Given the description of an element on the screen output the (x, y) to click on. 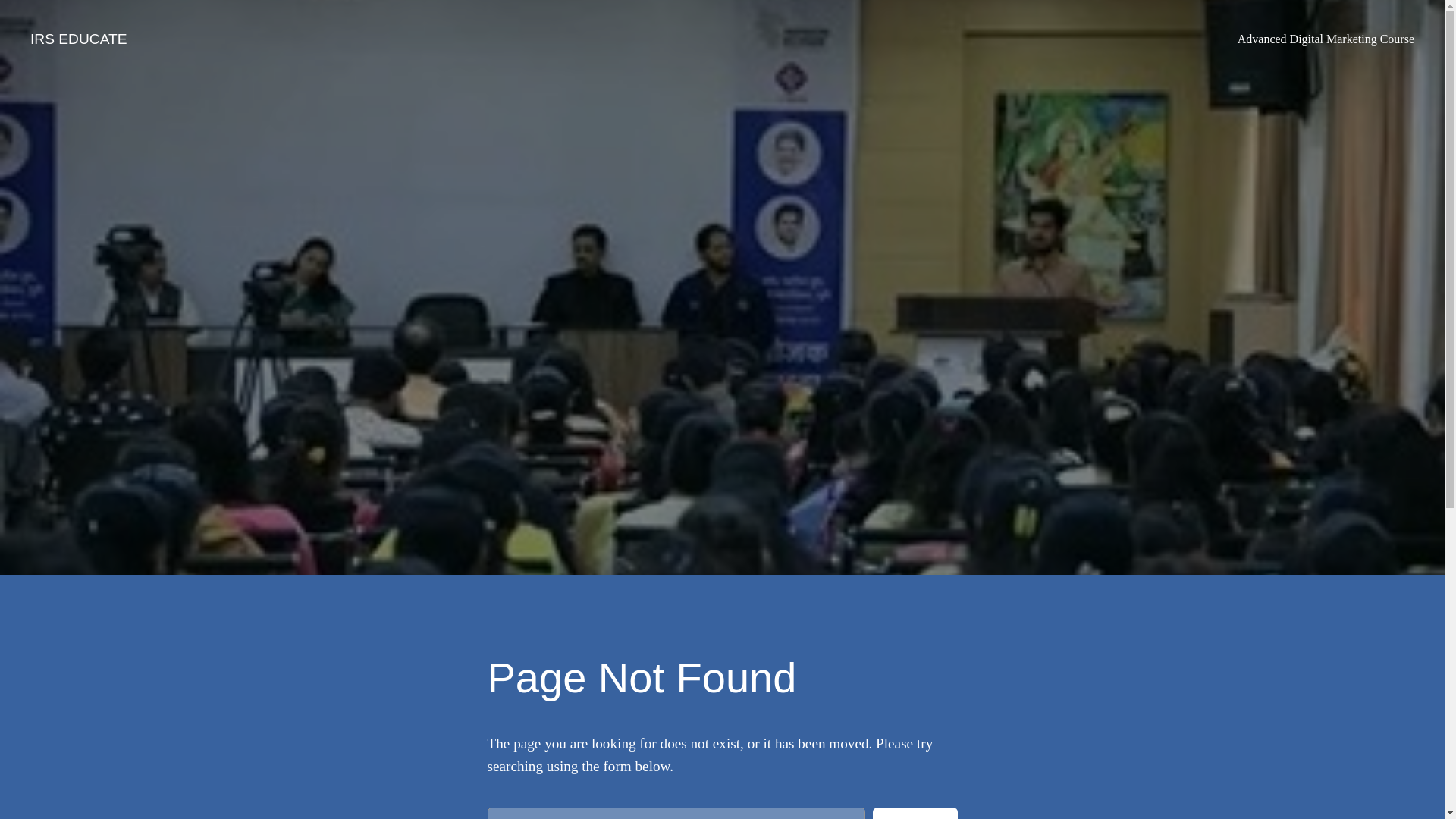
Advanced Digital Marketing Course (1325, 39)
Search (915, 813)
IRS EDUCATE (79, 38)
